Given the description of an element on the screen output the (x, y) to click on. 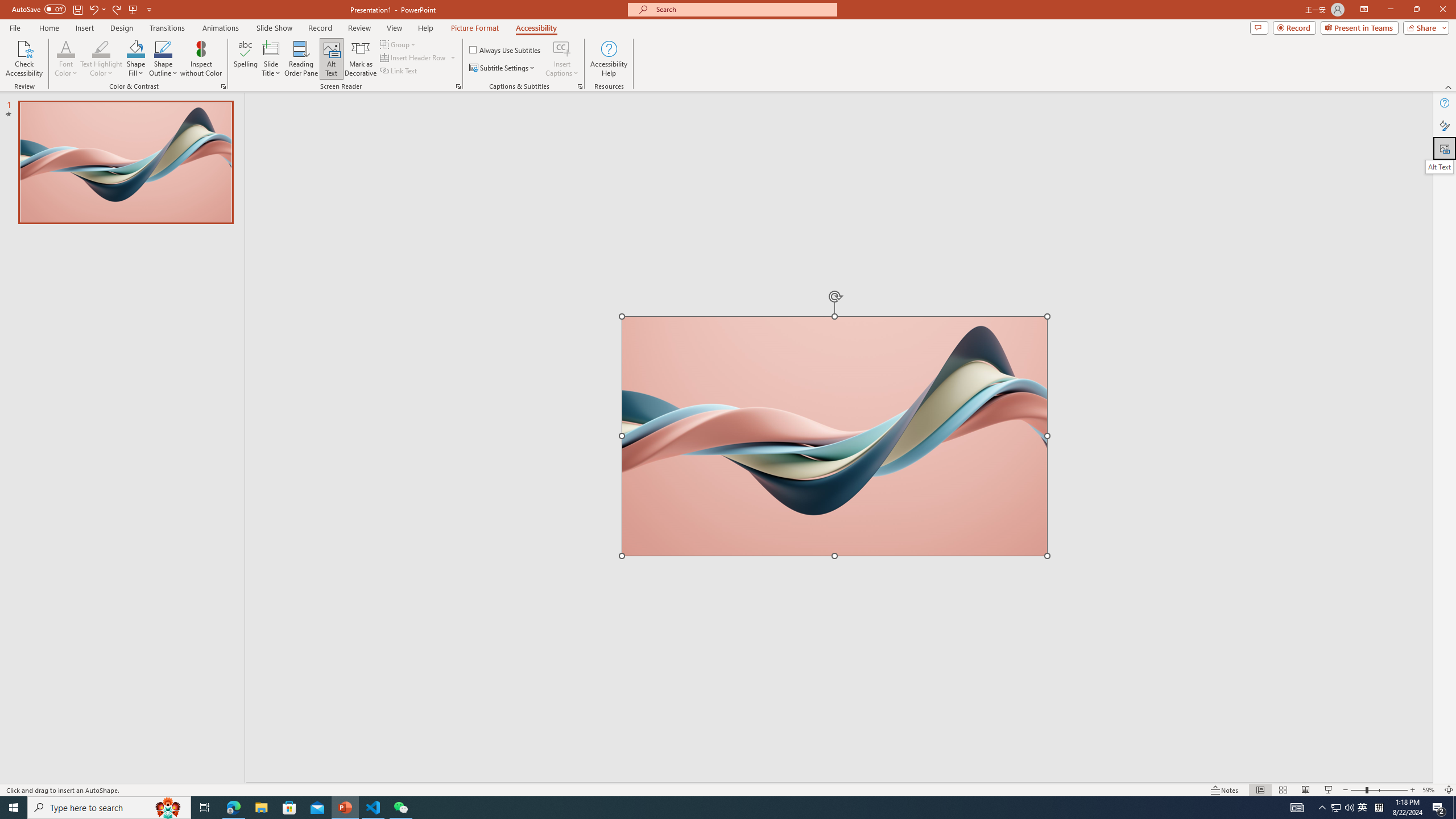
Inspect without Color (201, 58)
Zoom 59% (1430, 790)
